Given the description of an element on the screen output the (x, y) to click on. 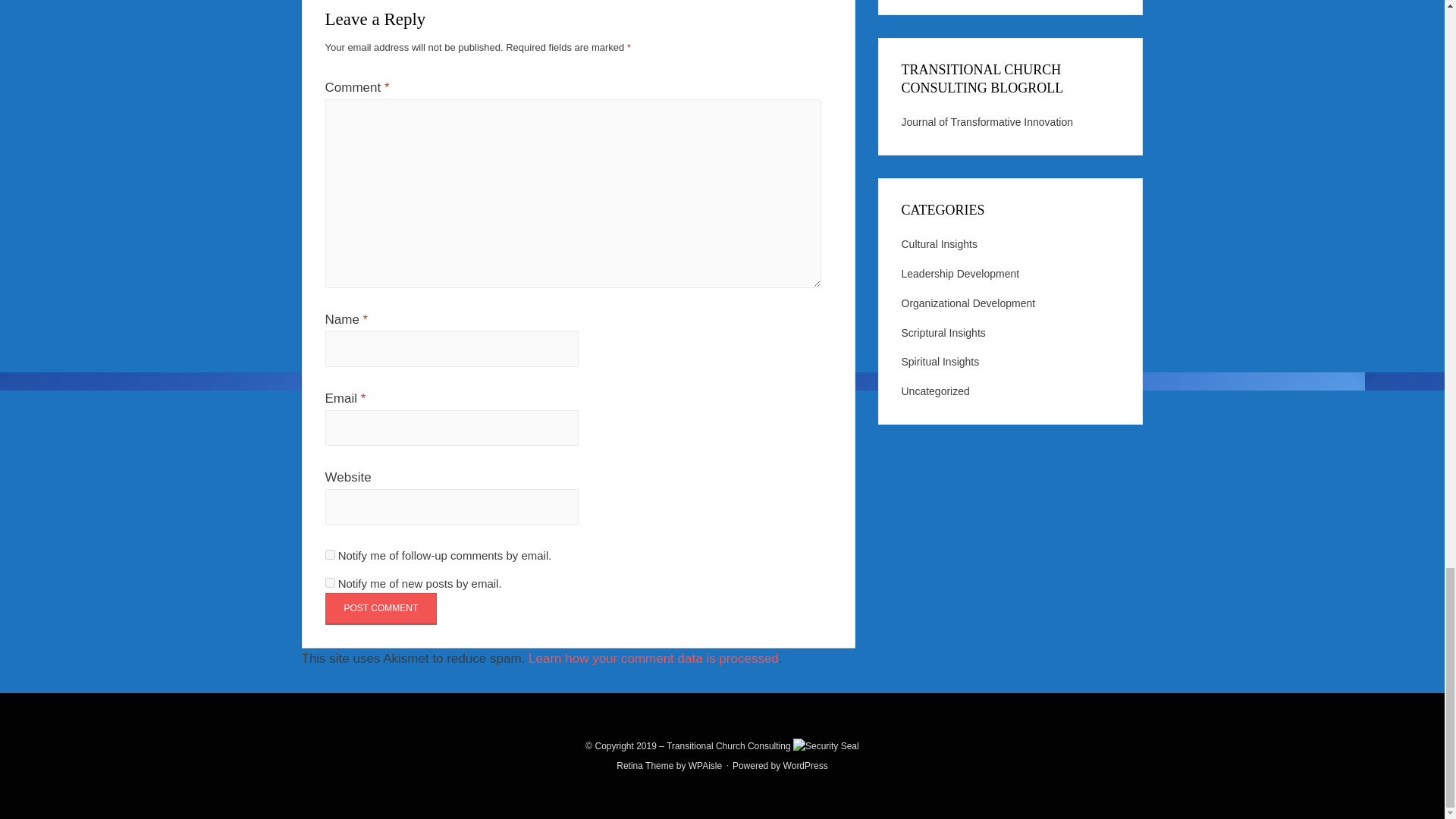
Post Comment (380, 608)
subscribe (329, 554)
subscribe (329, 583)
Learn how your comment data is processed (653, 658)
WPAisle (705, 765)
Post Comment (380, 608)
